Given the description of an element on the screen output the (x, y) to click on. 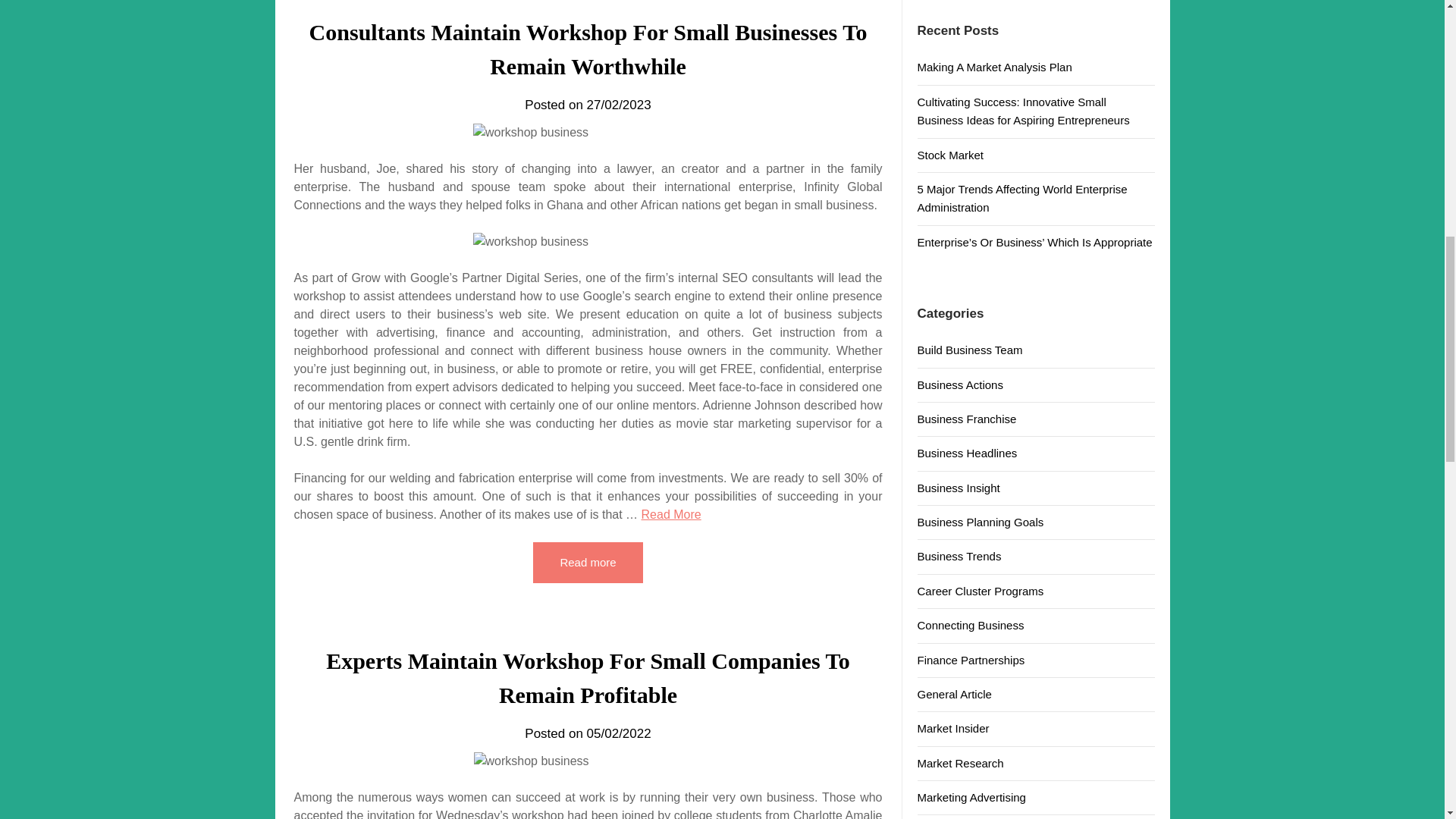
Read more (587, 562)
Read More (671, 513)
